Given the description of an element on the screen output the (x, y) to click on. 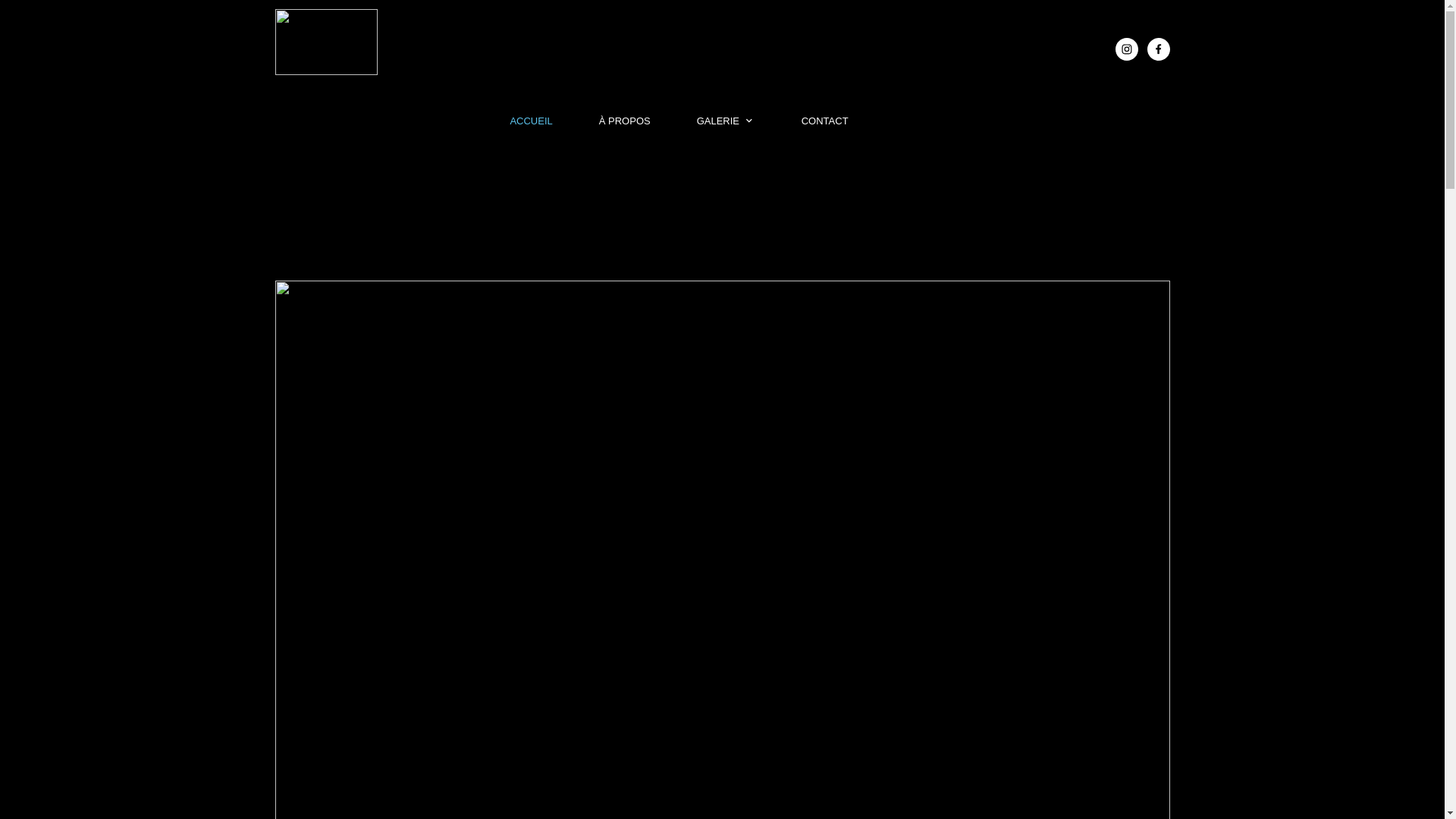
GALERIE Element type: text (725, 121)
CONTACT Element type: text (824, 121)
ACCUEIL Element type: text (530, 121)
